Given the description of an element on the screen output the (x, y) to click on. 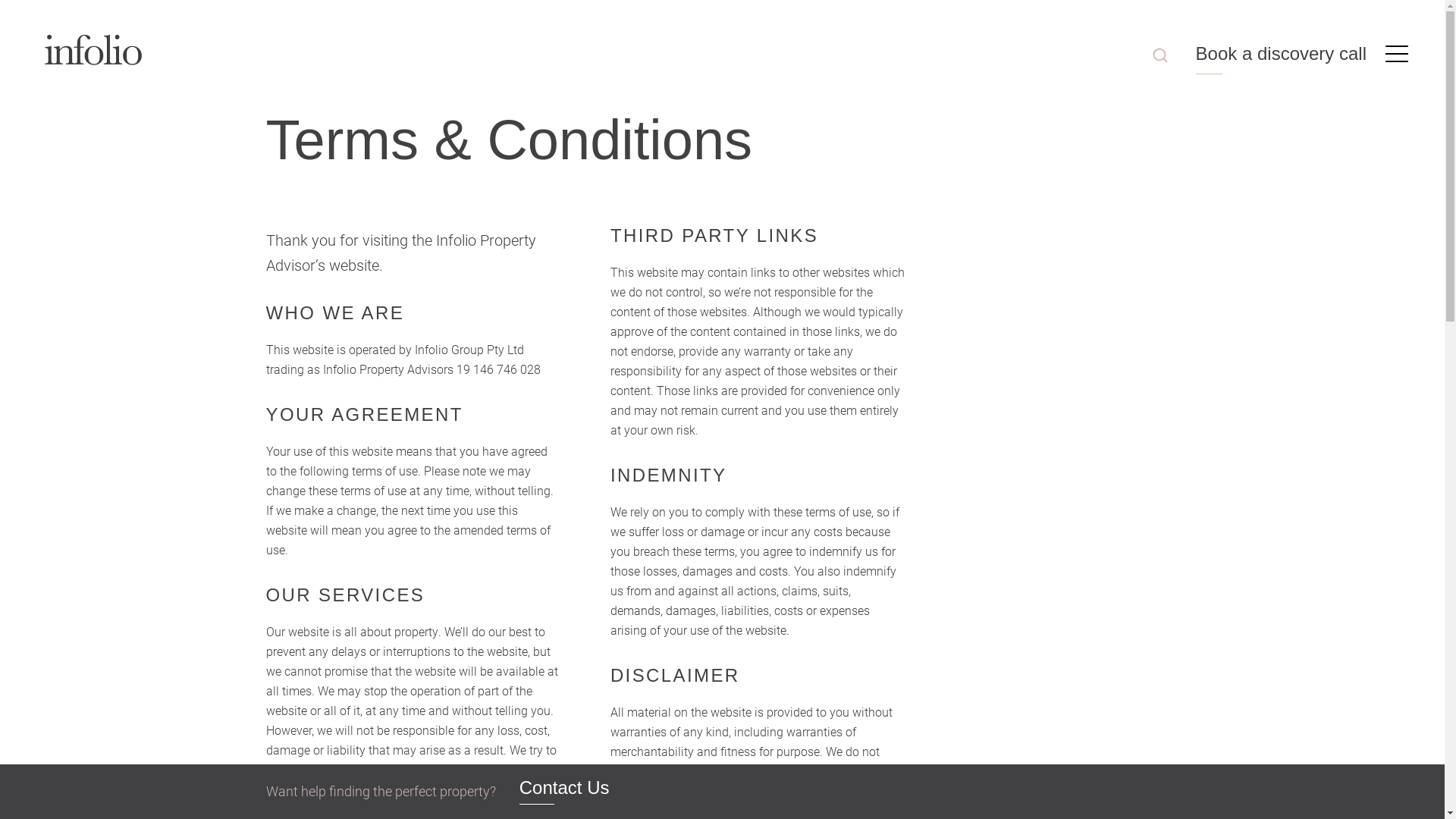
Contact Us Element type: text (564, 791)
Book a discovery call Element type: text (1280, 57)
